Given the description of an element on the screen output the (x, y) to click on. 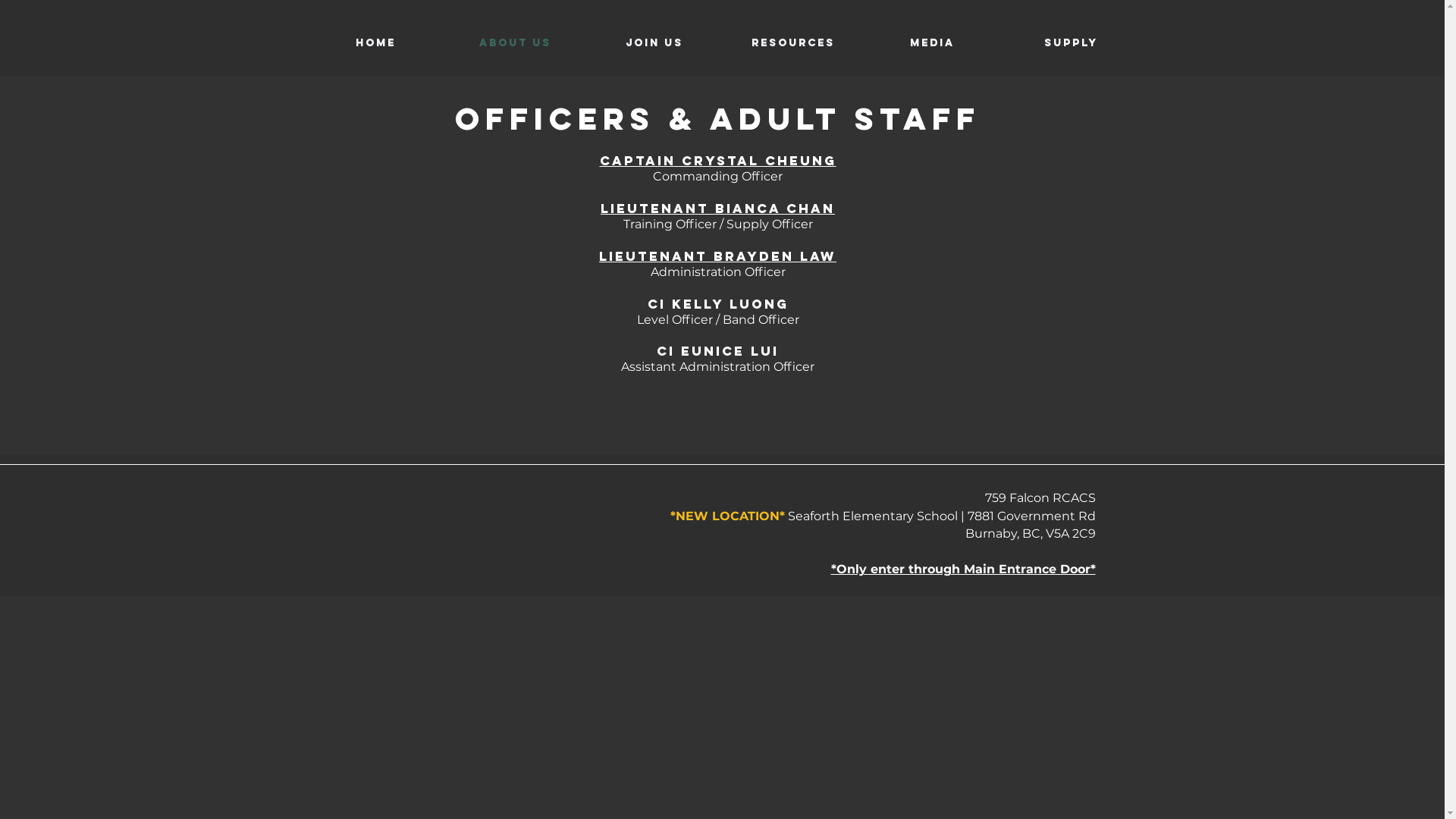
Media Element type: text (931, 42)
lieutenant brayden law Element type: text (717, 255)
Join us Element type: text (654, 42)
Home Element type: text (375, 42)
LIEUTENANT BIANCA CHAN Element type: text (717, 208)
Supply Element type: text (1070, 42)
CAPTAIN CRYSTAL CHEUNG Element type: text (717, 160)
About Us Element type: text (515, 42)
